Given the description of an element on the screen output the (x, y) to click on. 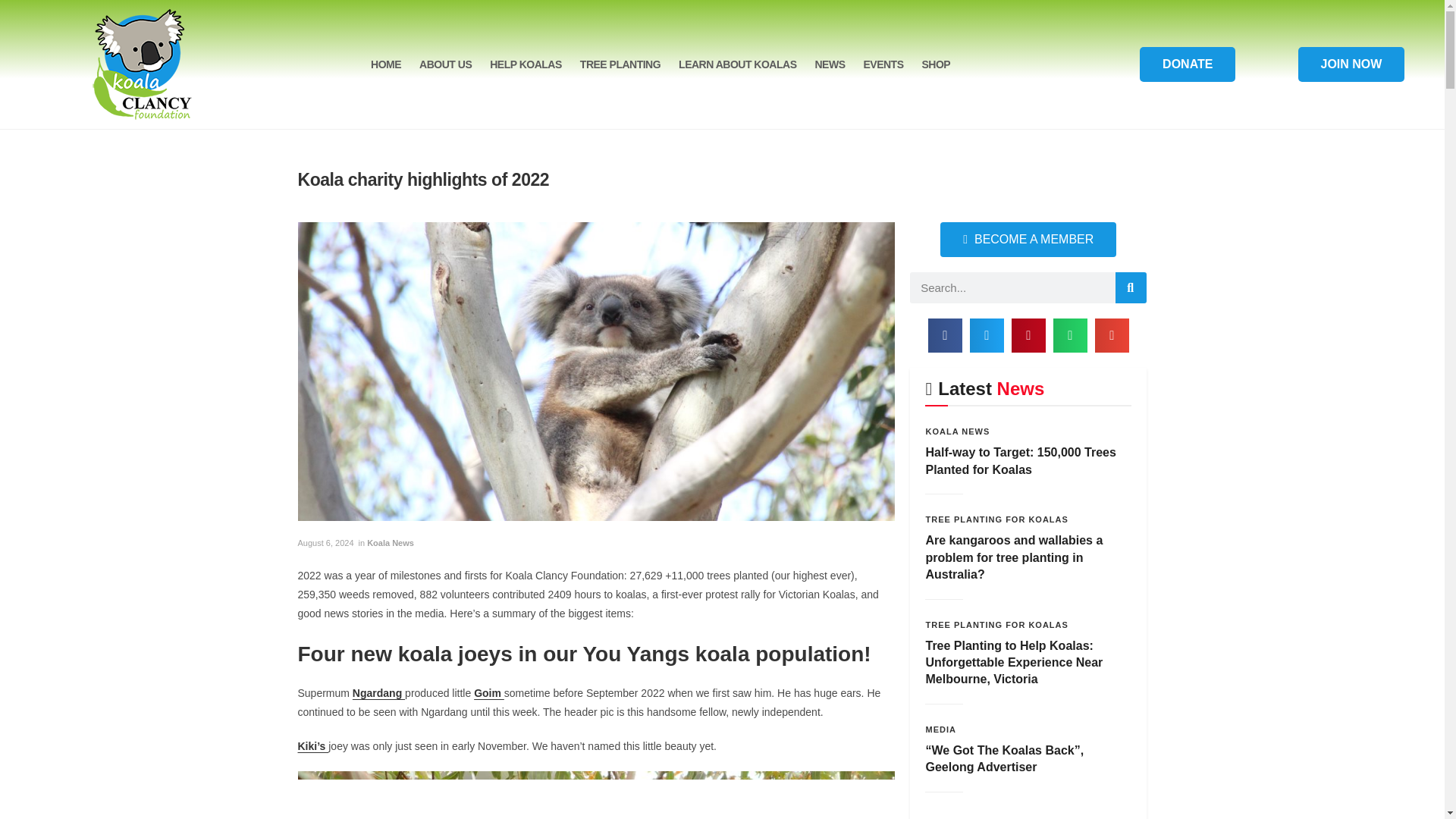
HOME (385, 64)
EVENTS (882, 64)
SHOP (935, 64)
NEWS (829, 64)
HELP KOALAS (525, 64)
TREE PLANTING (619, 64)
LEARN ABOUT KOALAS (737, 64)
ABOUT US (445, 64)
